Given the description of an element on the screen output the (x, y) to click on. 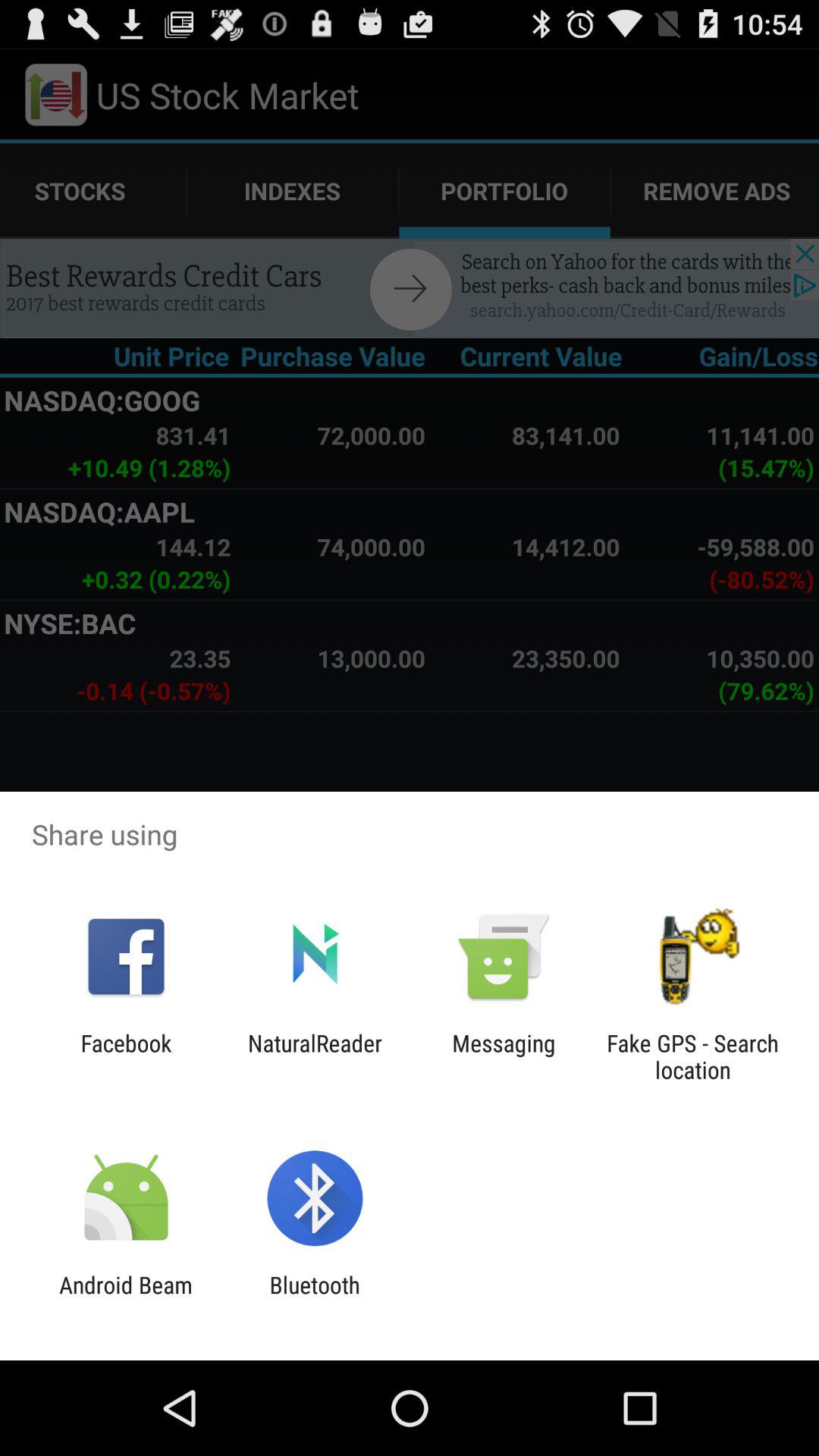
select app to the left of the messaging item (314, 1056)
